Given the description of an element on the screen output the (x, y) to click on. 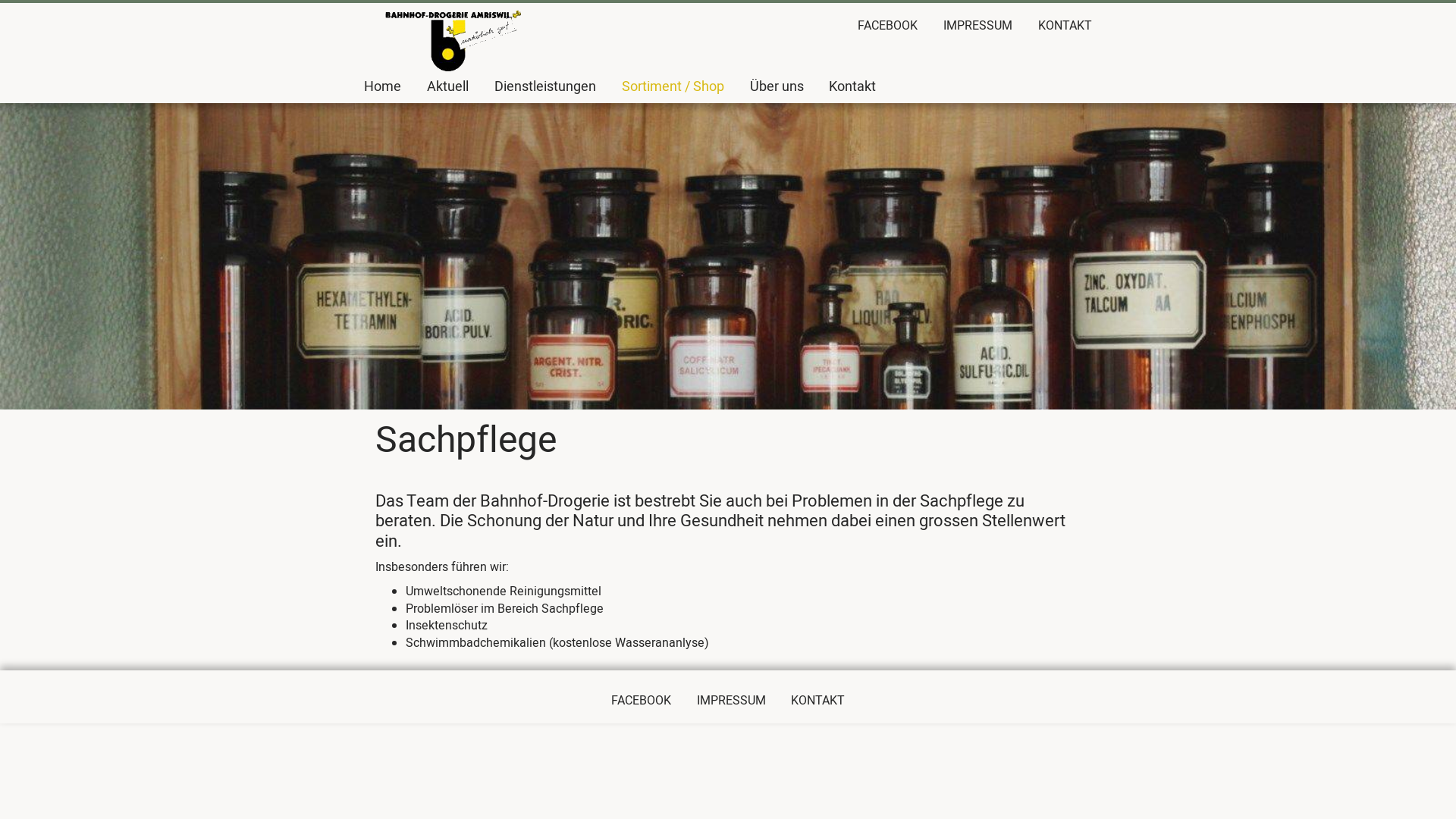
Home Element type: text (382, 86)
Kontakt Element type: text (851, 86)
Sortiment / Shop Element type: text (672, 86)
IMPRESSUM Element type: text (730, 700)
FACEBOOK Element type: text (641, 700)
Dienstleistungen Element type: text (545, 86)
KONTAKT Element type: text (1065, 25)
IMPRESSUM Element type: text (977, 25)
Aktuell Element type: text (447, 86)
KONTAKT Element type: text (817, 700)
FACEBOOK Element type: text (887, 25)
